Given the description of an element on the screen output the (x, y) to click on. 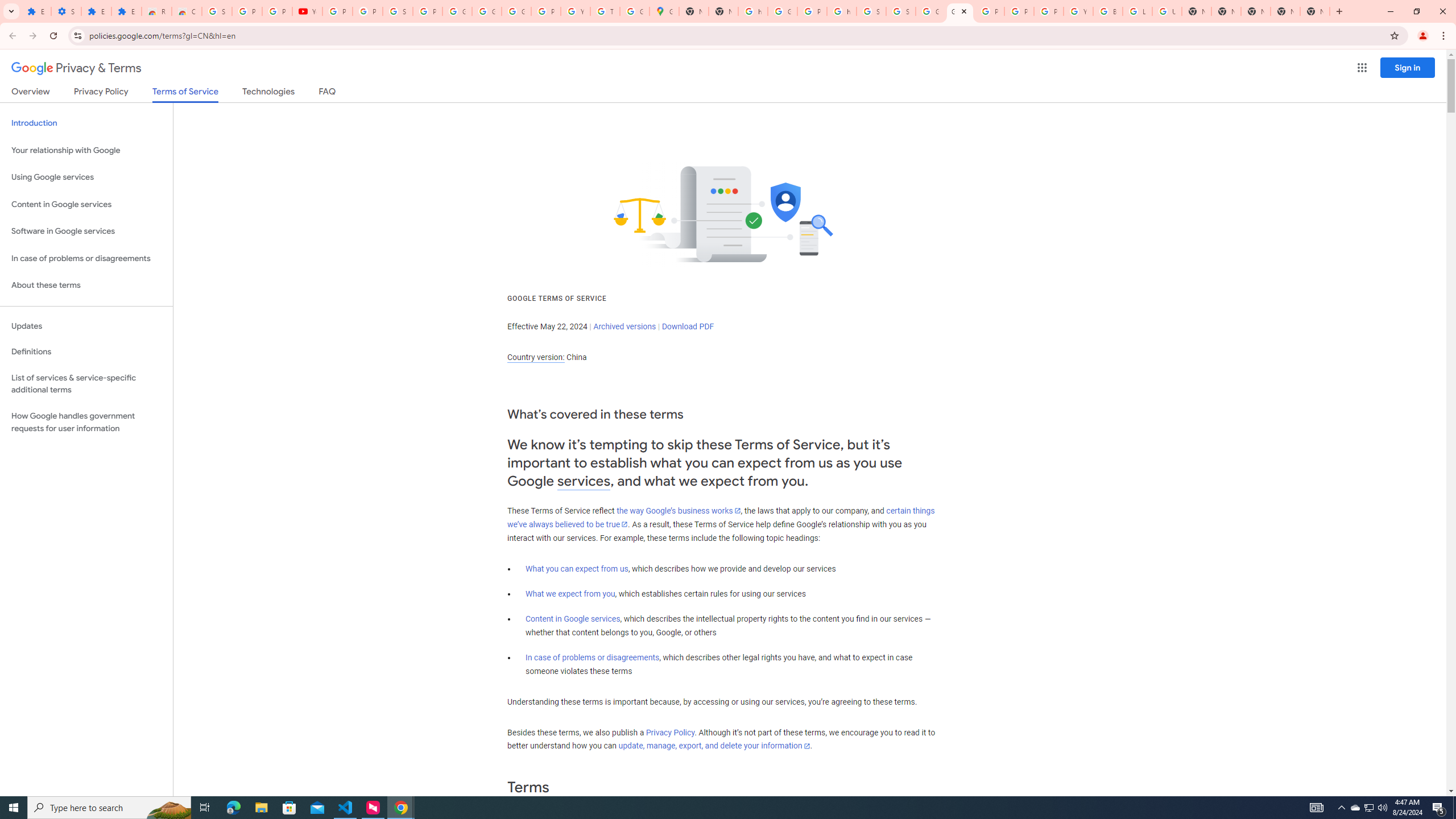
YouTube (1077, 11)
New Tab (1314, 11)
What you can expect from us (576, 568)
How Google handles government requests for user information (86, 422)
Chrome Web Store - Themes (185, 11)
